Given the description of an element on the screen output the (x, y) to click on. 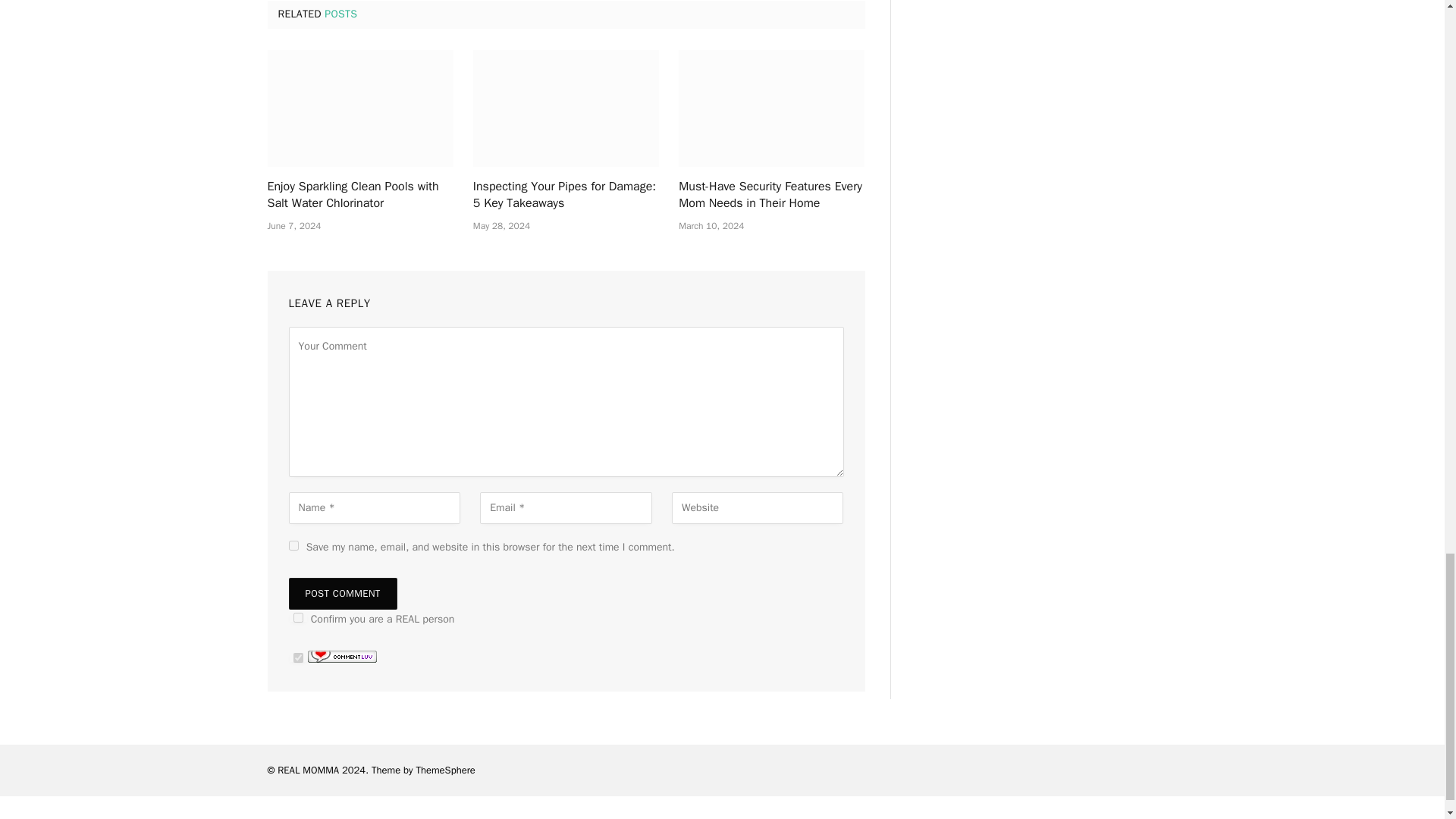
yes (293, 545)
Post Comment (342, 593)
on (297, 657)
on (297, 617)
